Given the description of an element on the screen output the (x, y) to click on. 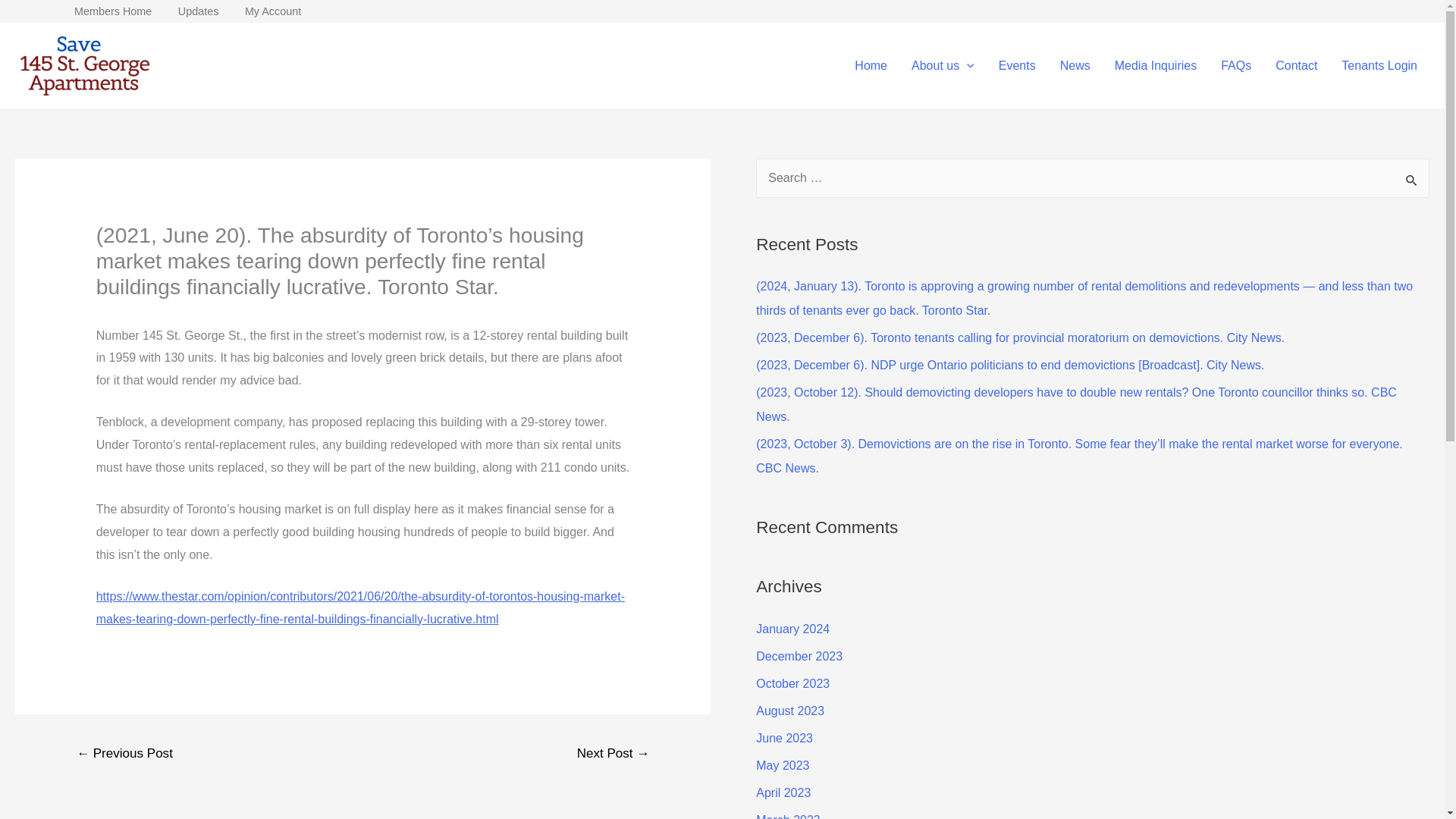
Events (1017, 65)
January 2024 (792, 628)
About us (943, 65)
Media Inquiries (1155, 65)
My Account (272, 10)
Tenants Login (1379, 65)
Updates (198, 10)
December 2023 (799, 656)
FAQs (1235, 65)
News (1075, 65)
October 2023 (792, 683)
Home (871, 65)
Members Home (112, 10)
Contact (1296, 65)
